Given the description of an element on the screen output the (x, y) to click on. 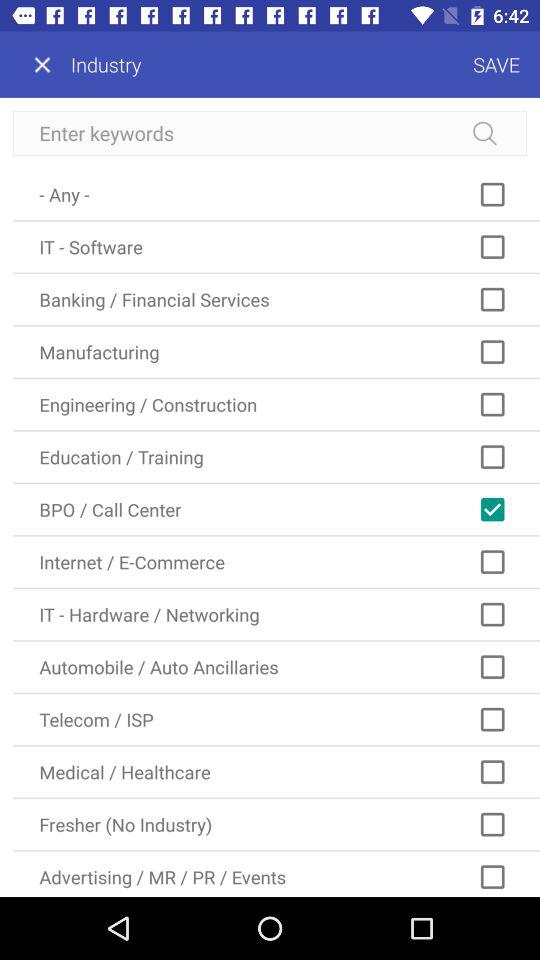
turn off item above it - hardware / networking (276, 561)
